Given the description of an element on the screen output the (x, y) to click on. 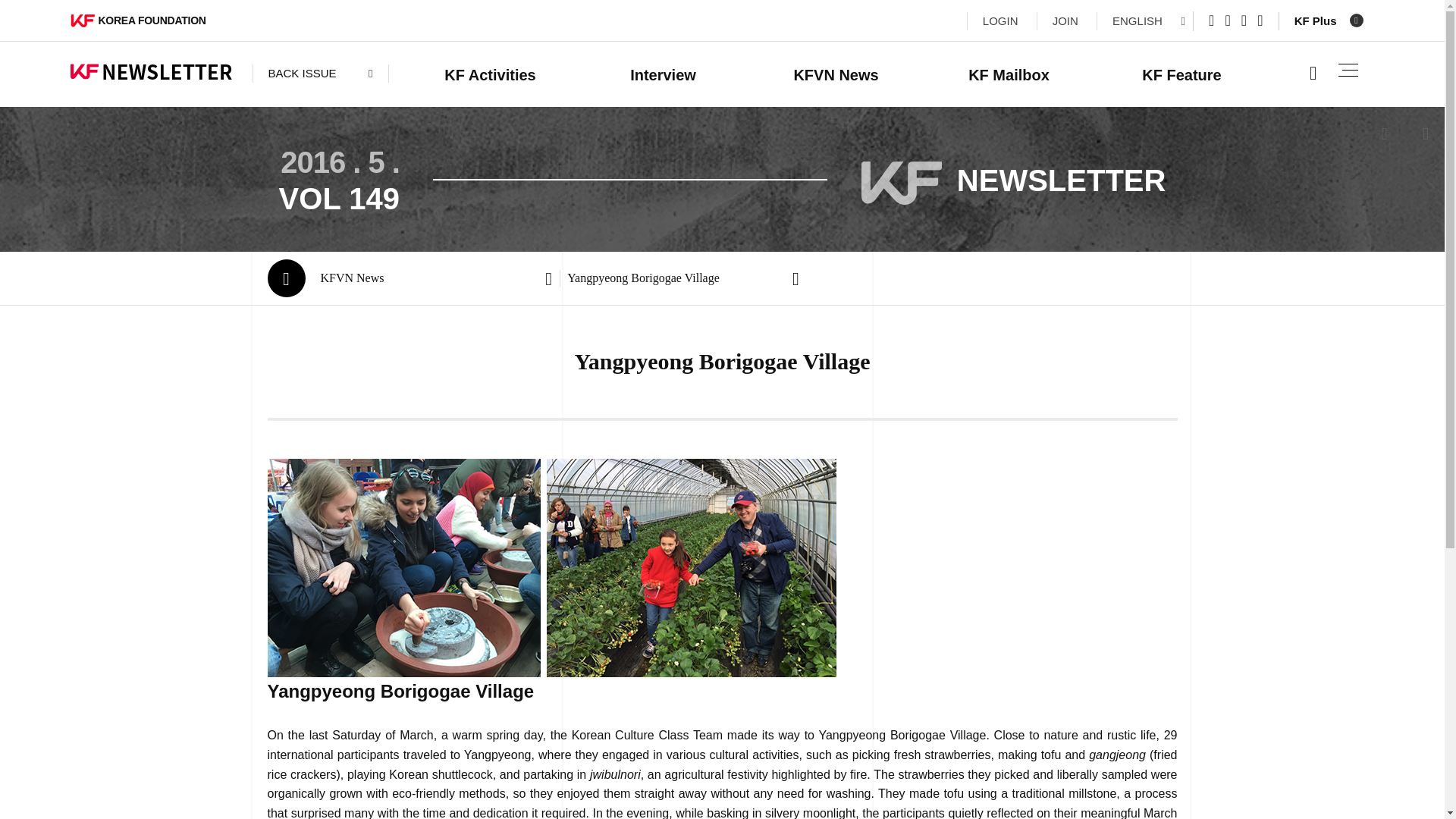
KOREA FOUNDATION (137, 20)
BACK ISSUE (319, 73)
